Given the description of an element on the screen output the (x, y) to click on. 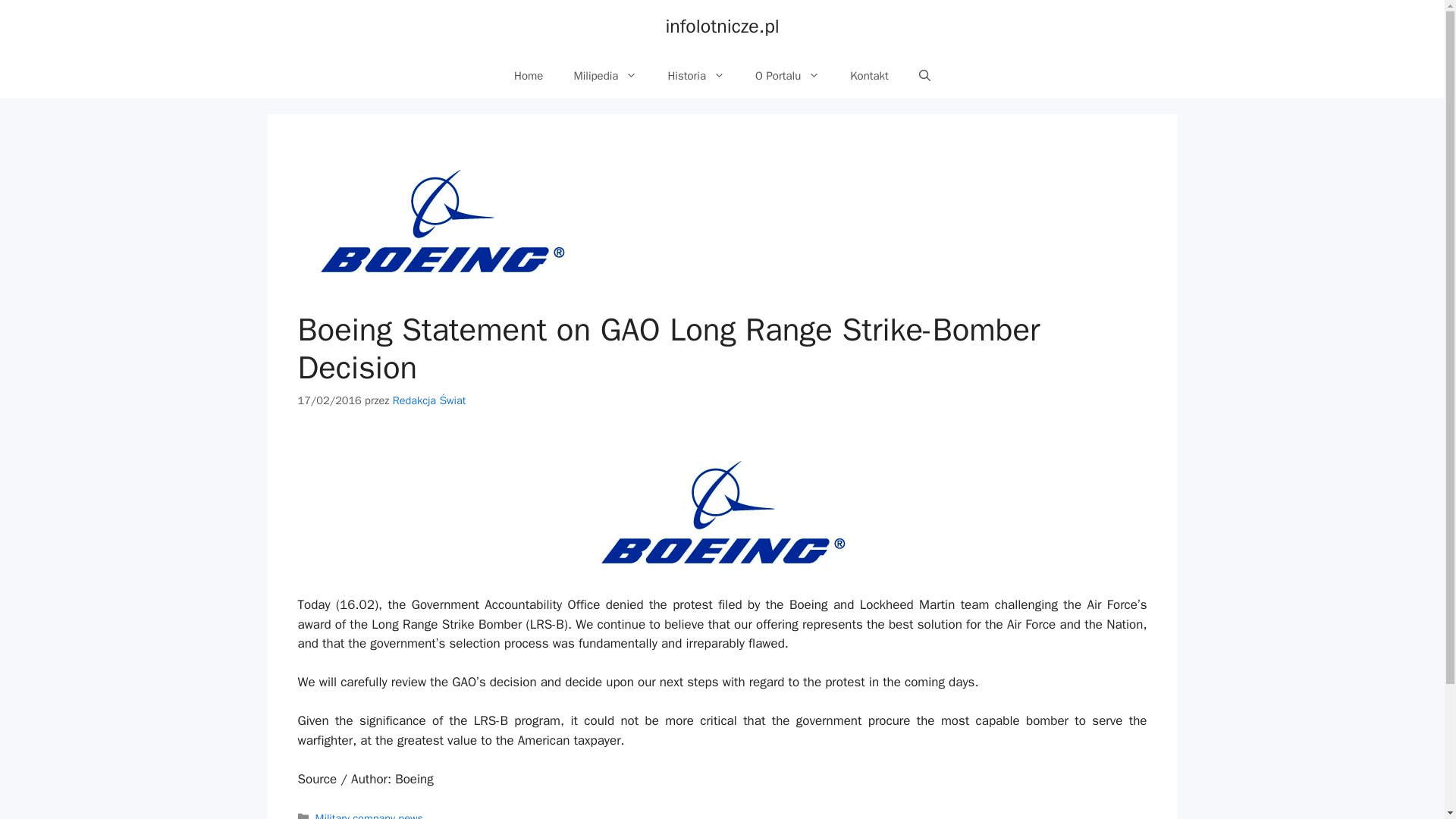
Kontakt (869, 75)
Milipedia (604, 75)
Historia (695, 75)
O Portalu (786, 75)
infolotnicze.pl (721, 25)
Home (528, 75)
